Given the description of an element on the screen output the (x, y) to click on. 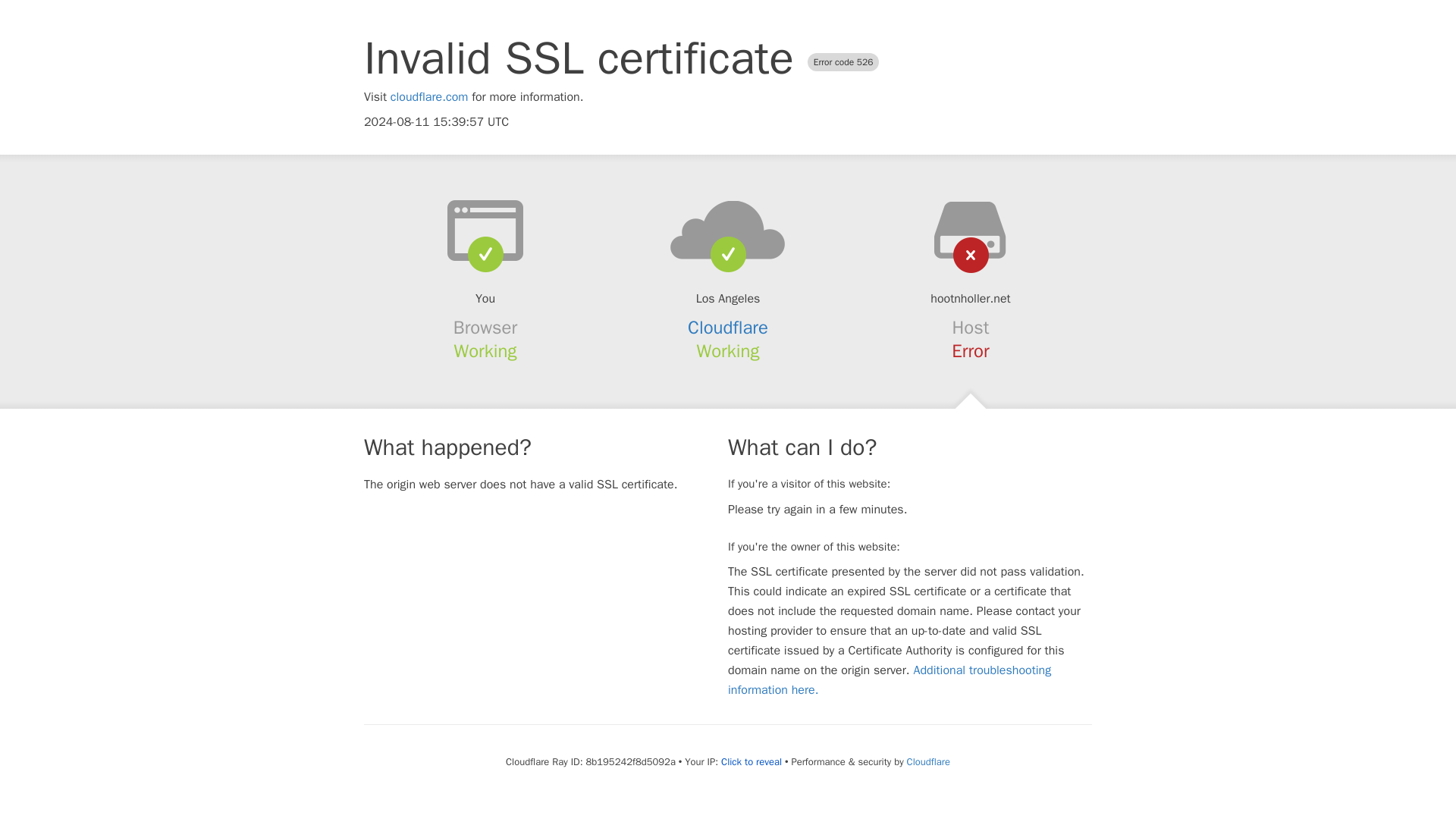
Cloudflare (928, 761)
cloudflare.com (429, 96)
Cloudflare (727, 327)
Click to reveal (750, 762)
Additional troubleshooting information here. (889, 679)
